Given the description of an element on the screen output the (x, y) to click on. 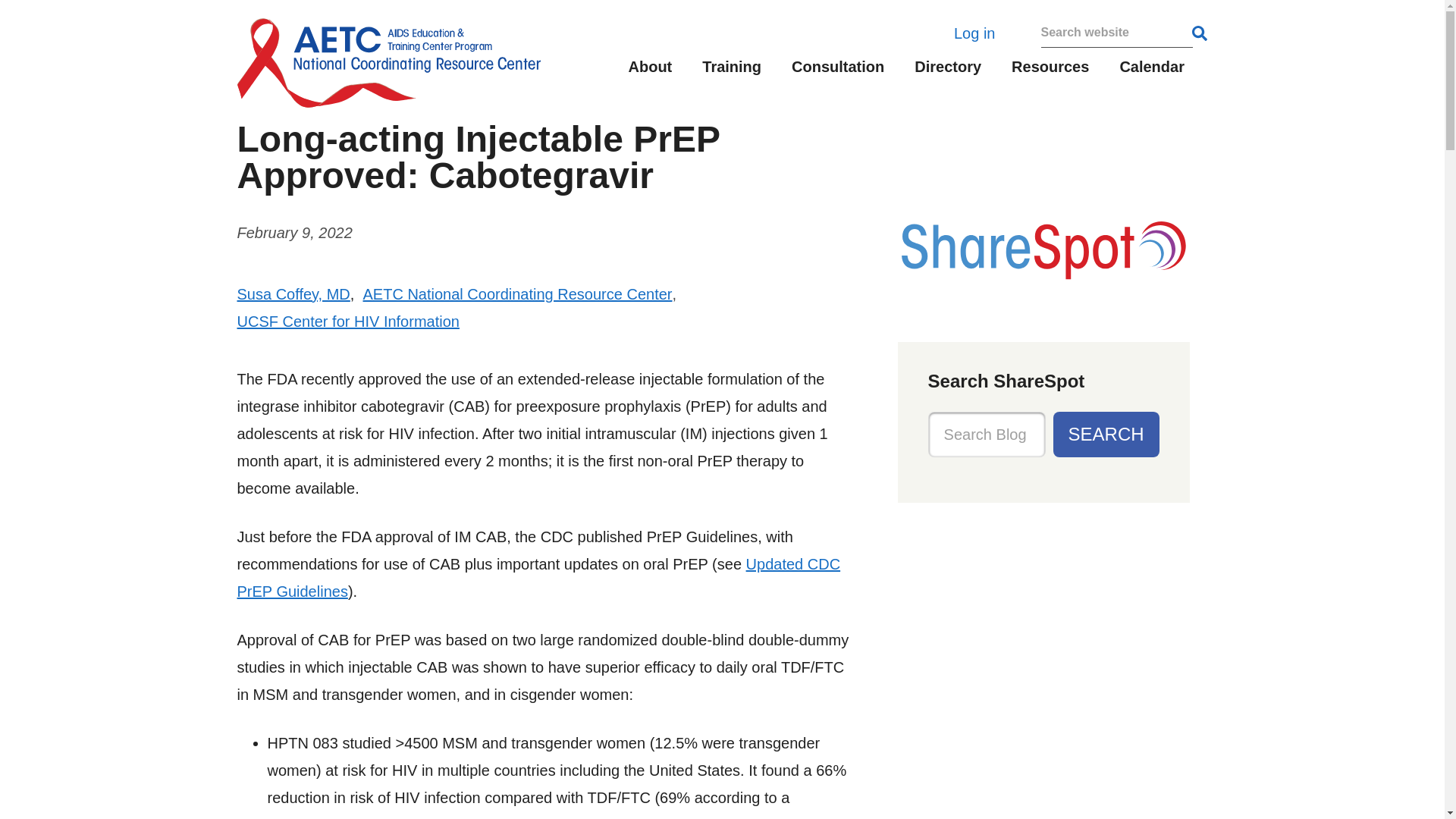
Library (1049, 71)
Resources (1049, 71)
Calendar (1144, 71)
Search (1105, 434)
Consultation (837, 71)
Sharespot blog (1043, 282)
About (649, 71)
Apply (1198, 32)
Training (731, 71)
Consultation (837, 71)
Log in (974, 33)
